Given the description of an element on the screen output the (x, y) to click on. 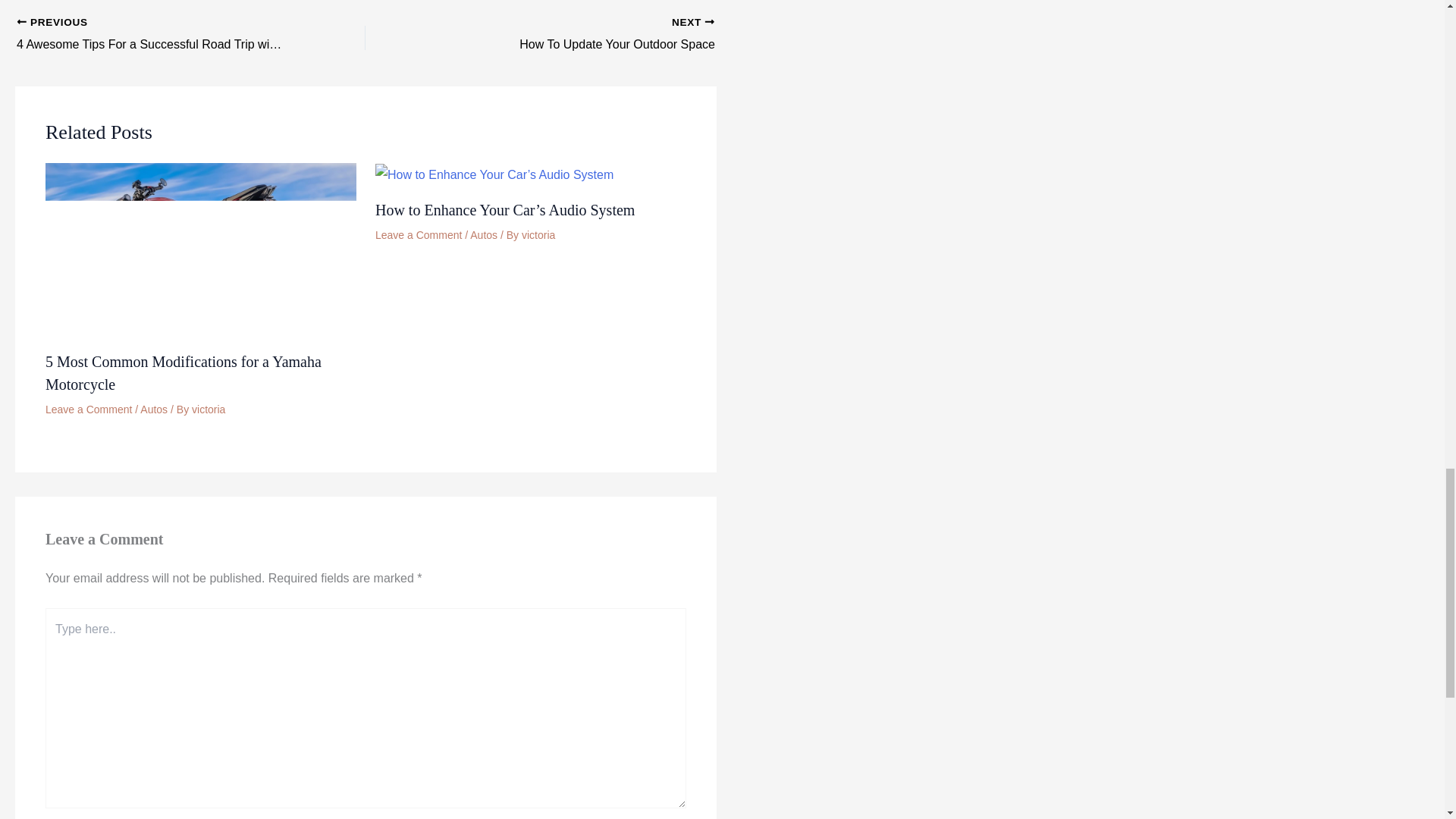
4 Awesome Tips For a Successful Road Trip with Your Friends (156, 34)
View all posts by victoria (208, 409)
How To Update Your Outdoor Space (573, 34)
View all posts by victoria (573, 34)
